Given the description of an element on the screen output the (x, y) to click on. 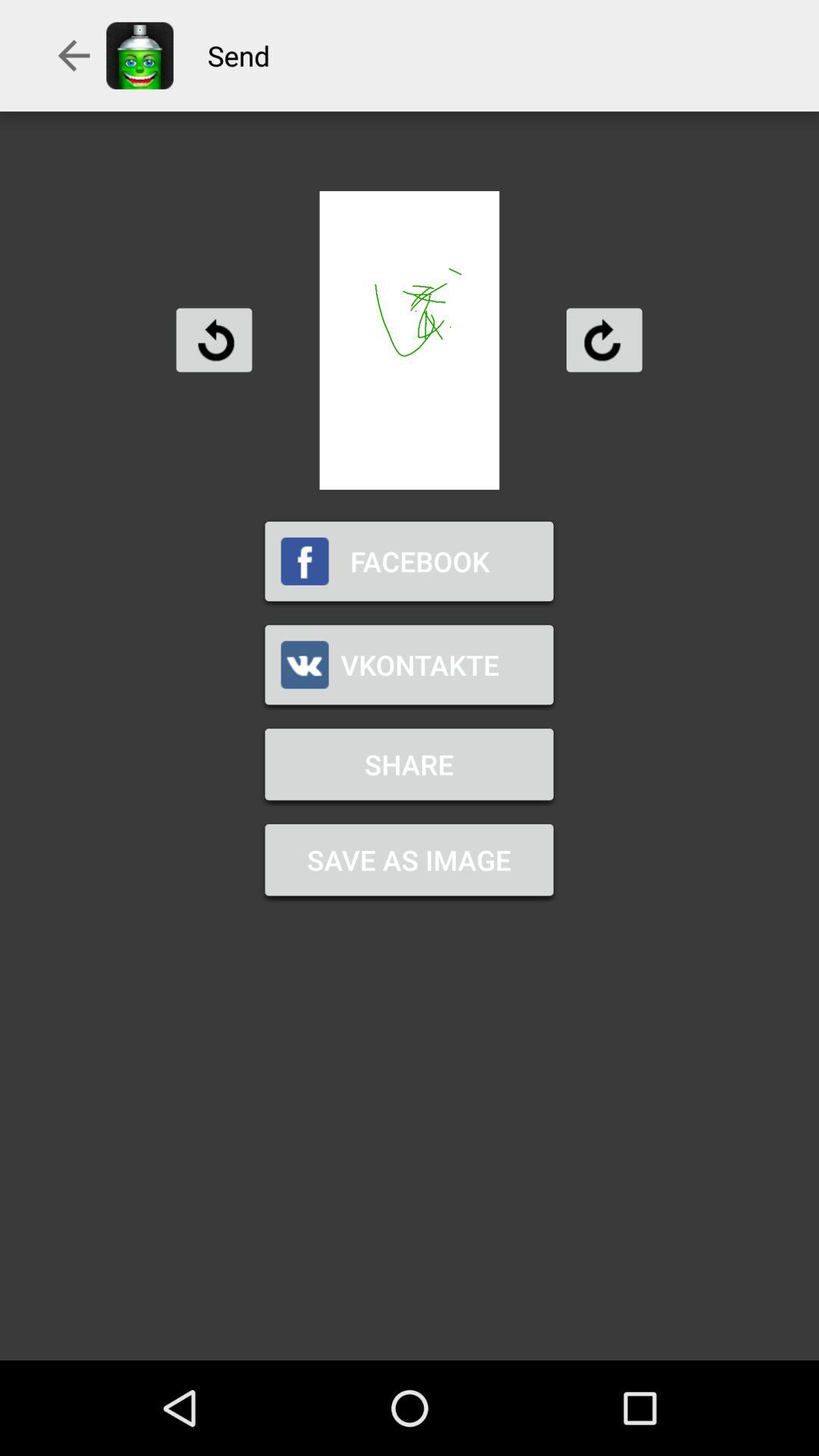
click the item above the facebook item (213, 339)
